Given the description of an element on the screen output the (x, y) to click on. 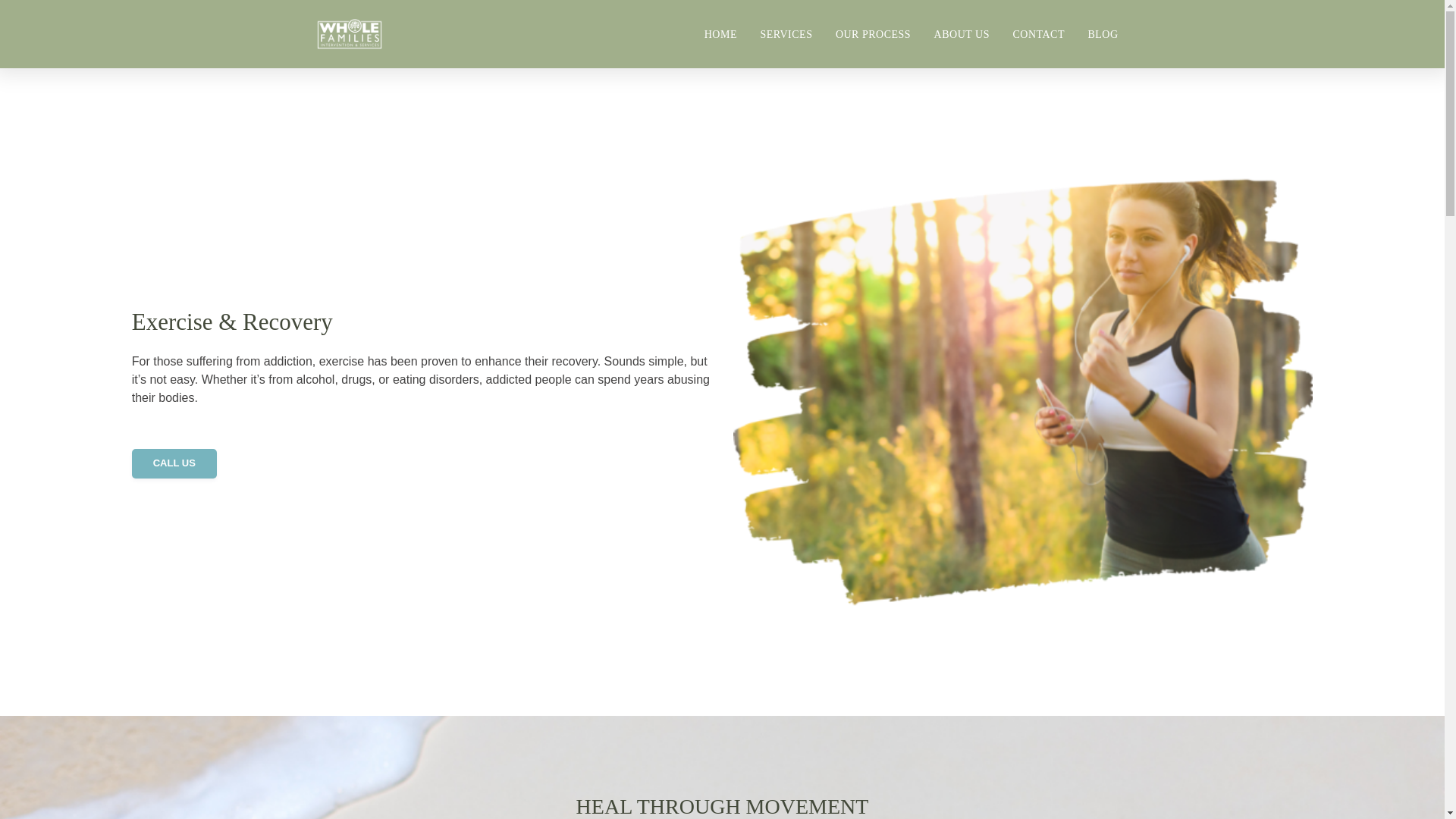
CONTACT (1037, 34)
ABOUT US (962, 34)
OUR PROCESS (873, 34)
BLOG (1102, 34)
CALL US (174, 463)
SERVICES (786, 34)
HOME (720, 34)
